Given the description of an element on the screen output the (x, y) to click on. 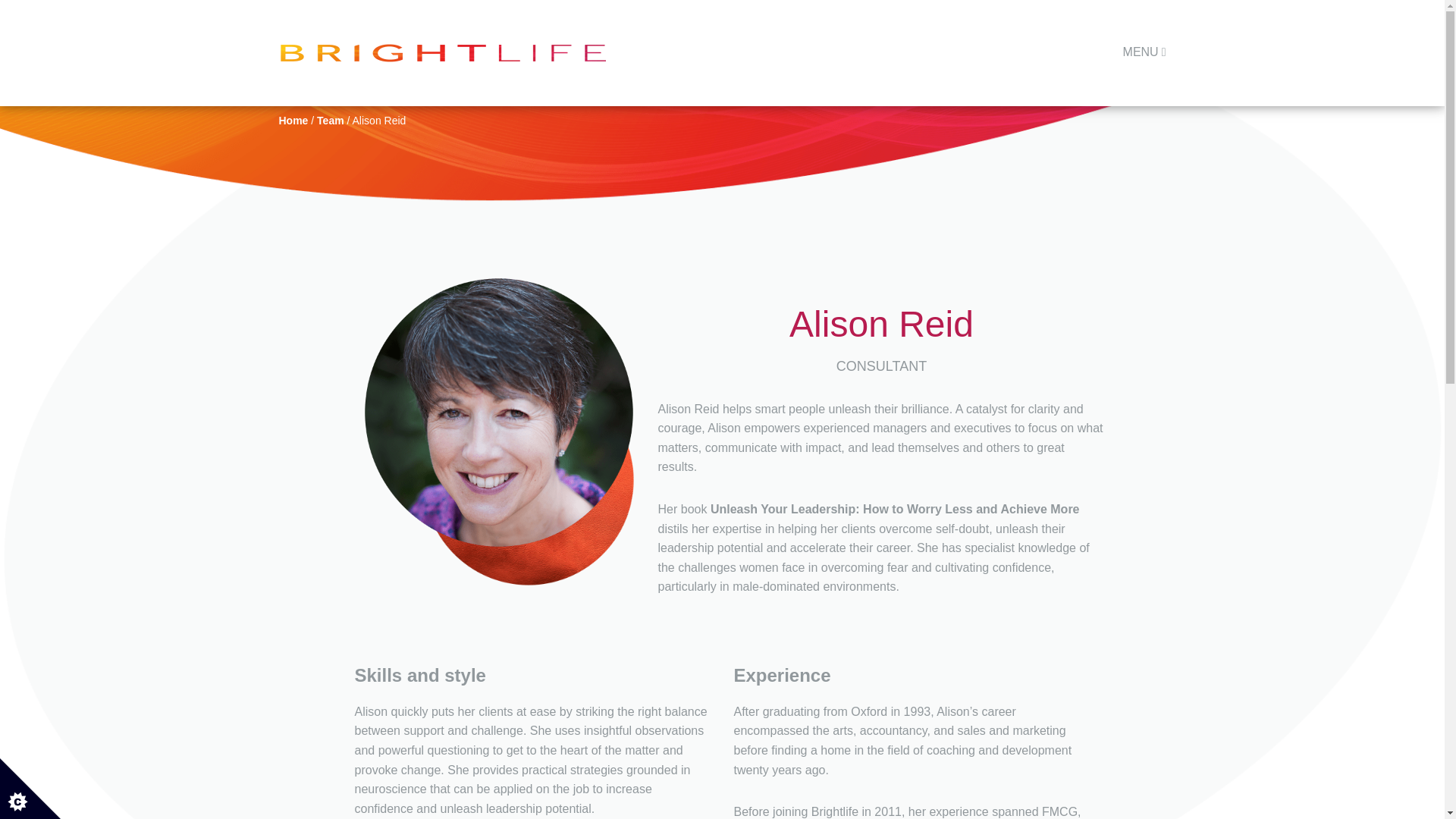
Team (330, 120)
Home (293, 120)
